Given the description of an element on the screen output the (x, y) to click on. 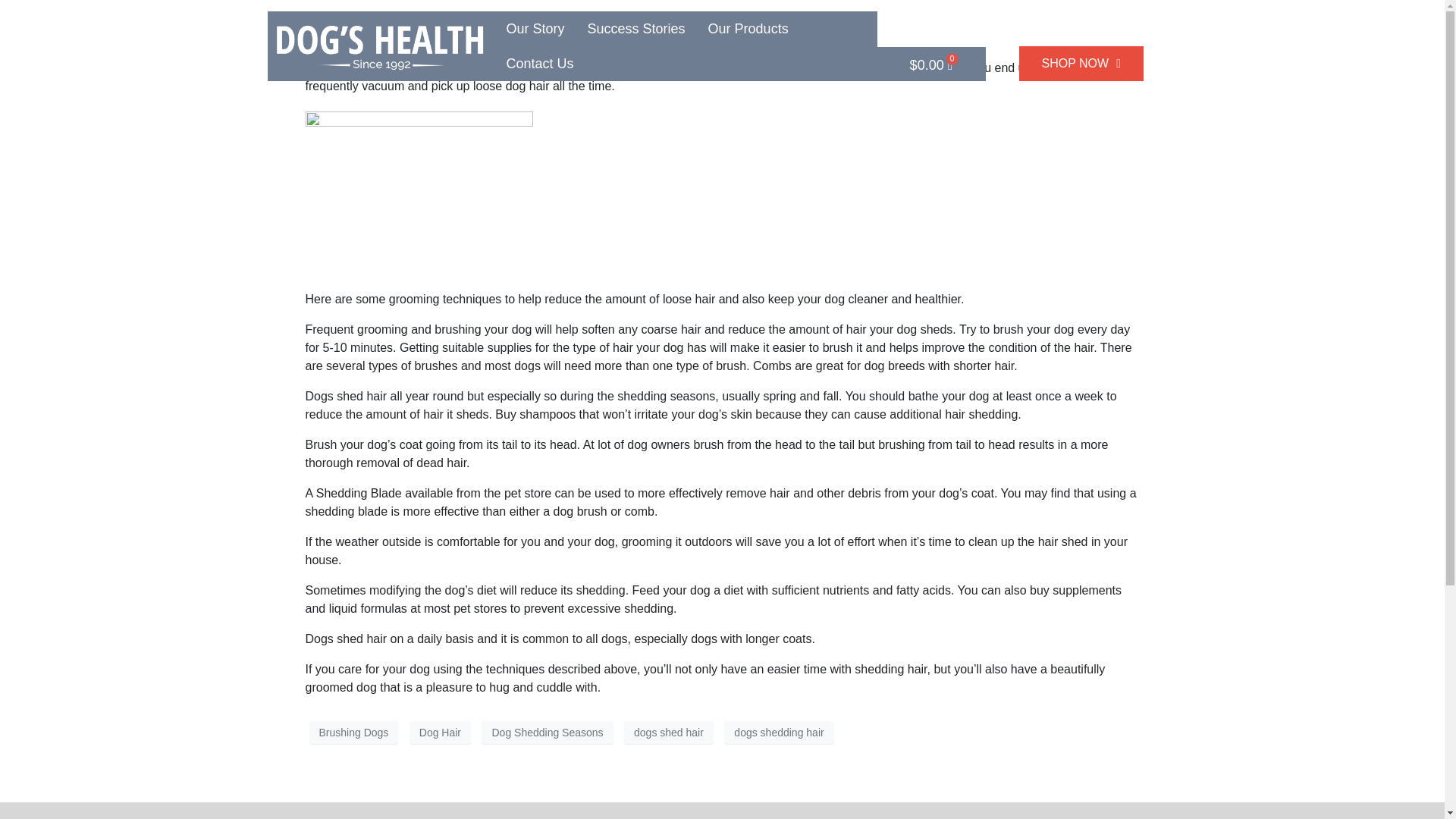
Our Products (748, 28)
Dog Hair (439, 732)
Success Stories (636, 28)
Our Story (535, 28)
Dog Shedding Seasons (546, 732)
Brushing Dogs (353, 732)
dogs shedding hair (777, 732)
Why Dogs Shed Hair (417, 31)
SHOP NOW (1080, 63)
dogs shed hair (668, 732)
